Given the description of an element on the screen output the (x, y) to click on. 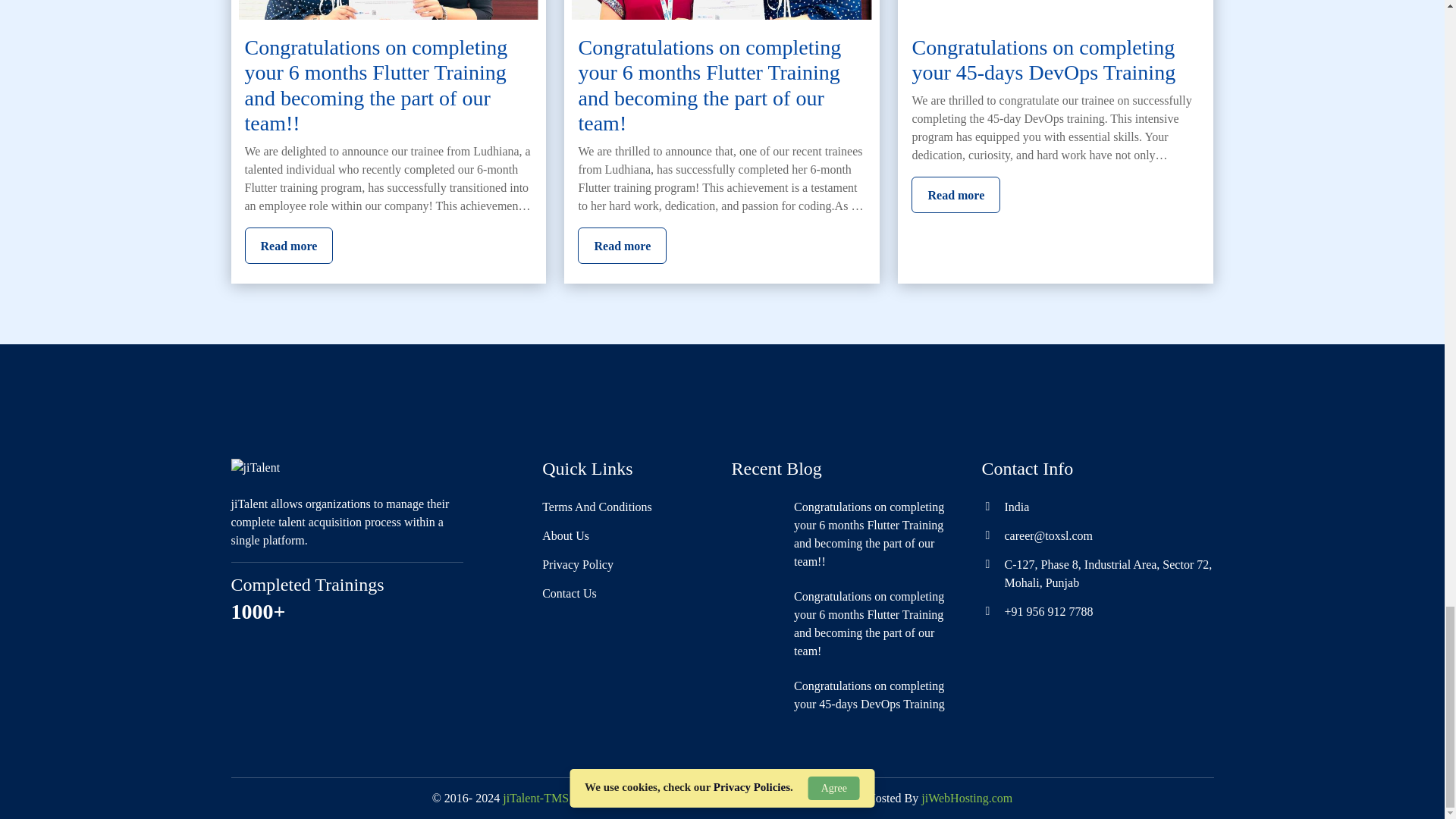
jiTalent (254, 467)
Terms And Conditions (596, 506)
Read more (955, 194)
Read more (288, 245)
Congratulations on completing your 45-days DevOps Training (1042, 60)
Read more (622, 245)
